Given the description of an element on the screen output the (x, y) to click on. 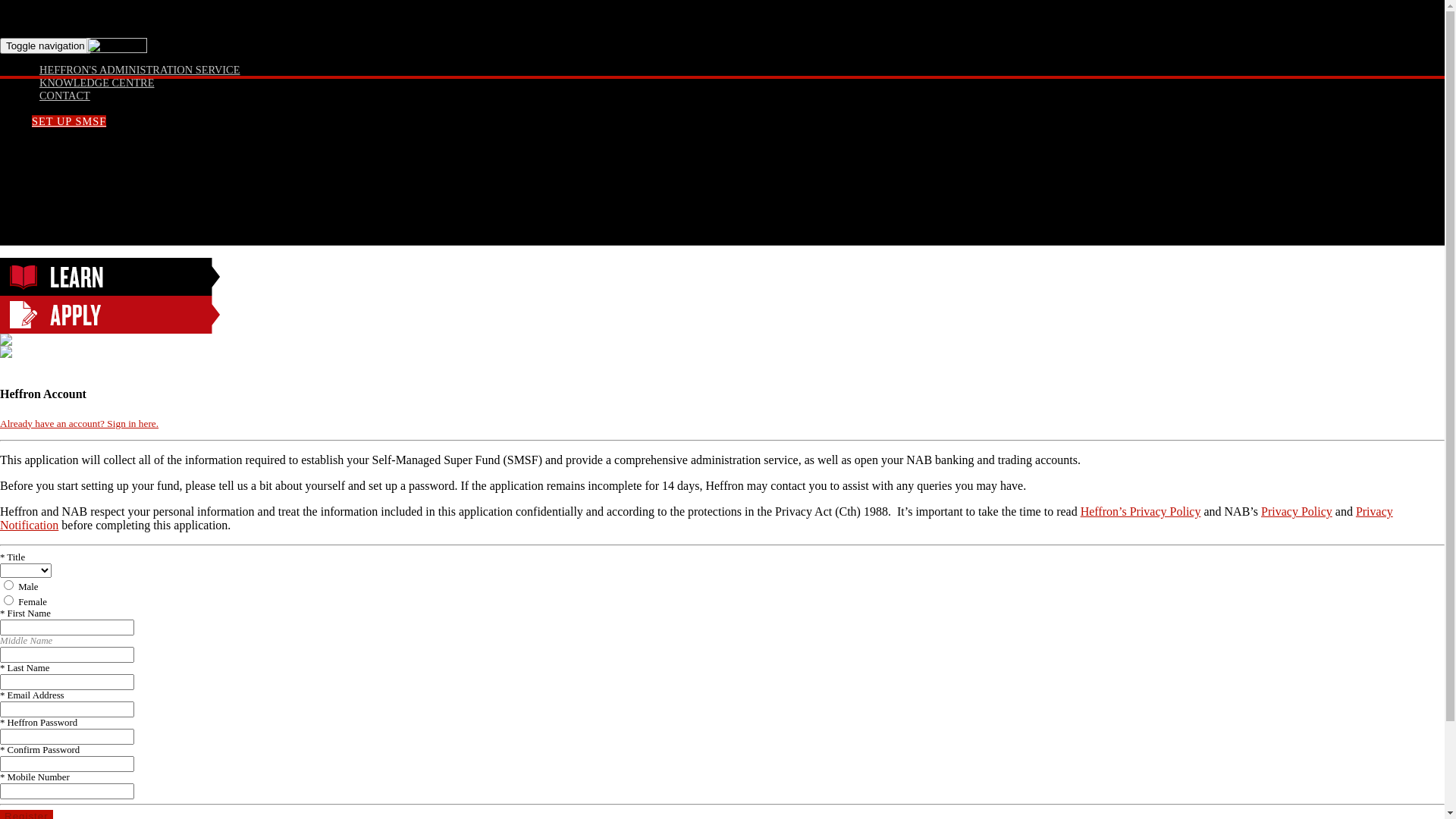
Toggle navigation Element type: text (45, 45)
KNOWLEDGE CENTRE Element type: text (96, 82)
SET UP SMSF Element type: text (68, 121)
HEFFRON'S ADMINISTRATION SERVICE Element type: text (139, 69)
Privacy Policy Element type: text (1296, 511)
Privacy Notification Element type: text (696, 518)
CONTACT Element type: text (64, 95)
Register here Element type: text (148, 806)
Already have an account? Sign in here. Element type: text (79, 423)
